Given the description of an element on the screen output the (x, y) to click on. 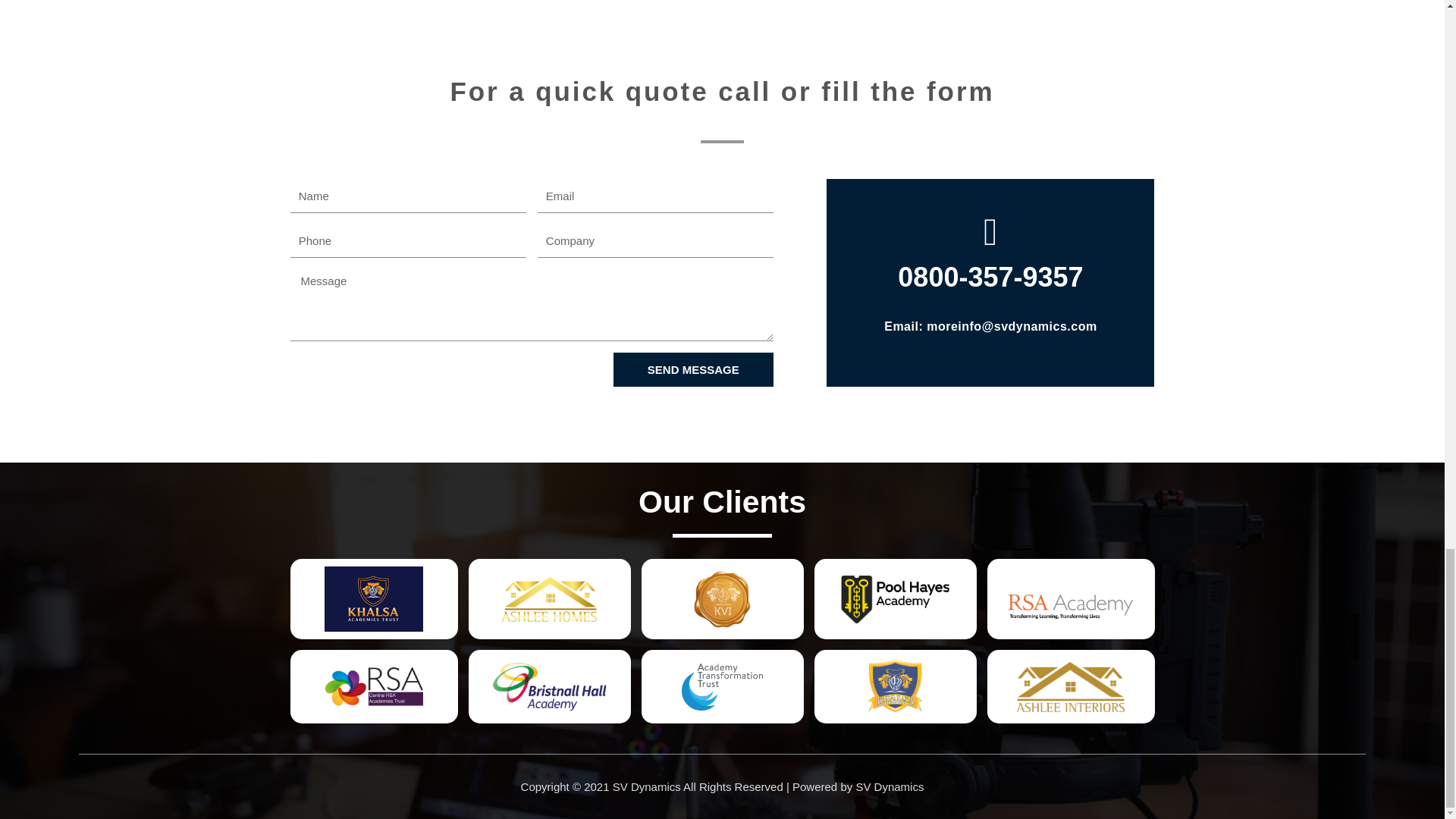
SEND MESSAGE (692, 369)
